Given the description of an element on the screen output the (x, y) to click on. 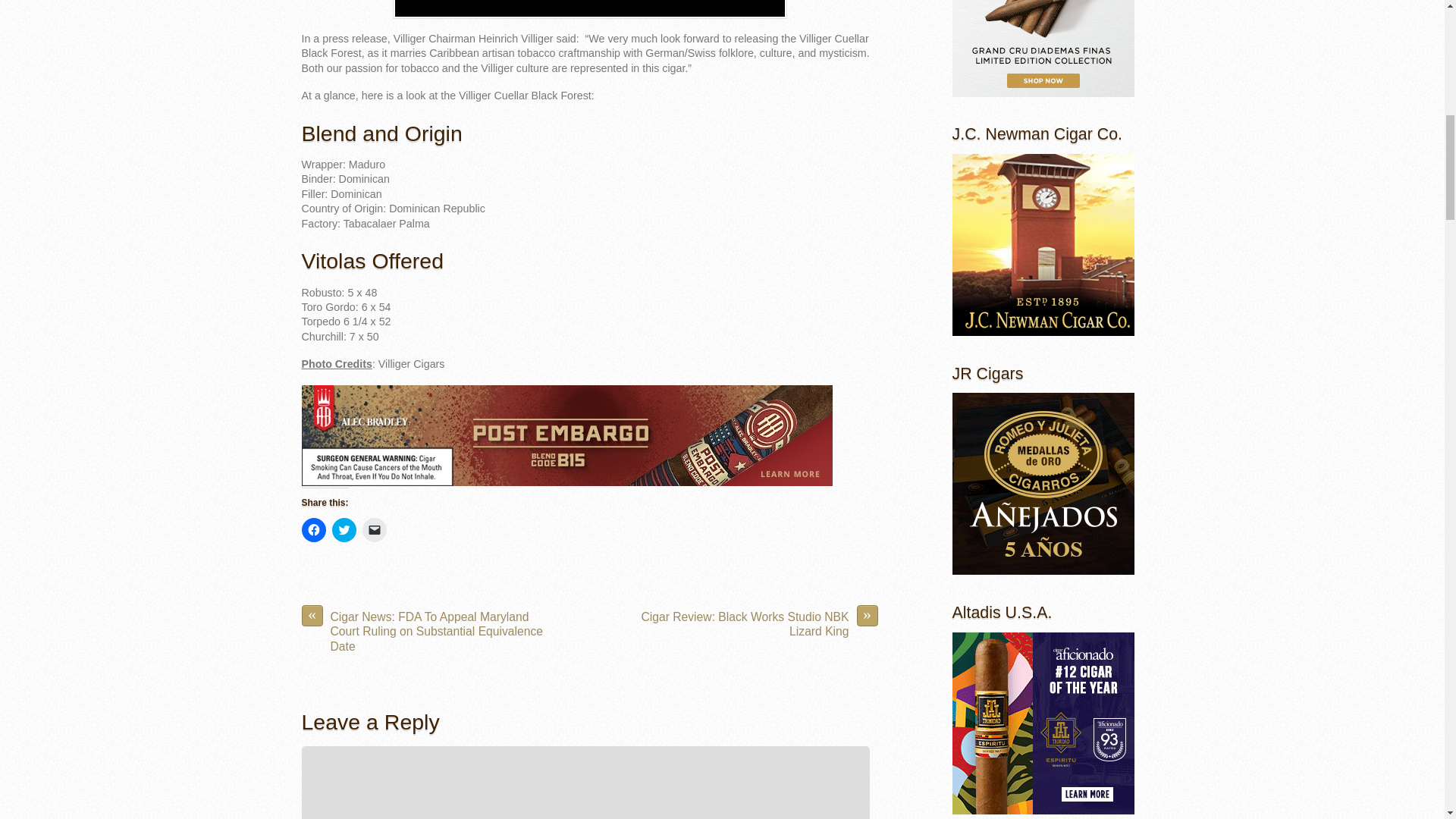
Click to share on Twitter (343, 529)
Click to share on Facebook (313, 529)
Click to email a link to a friend (374, 529)
